Given the description of an element on the screen output the (x, y) to click on. 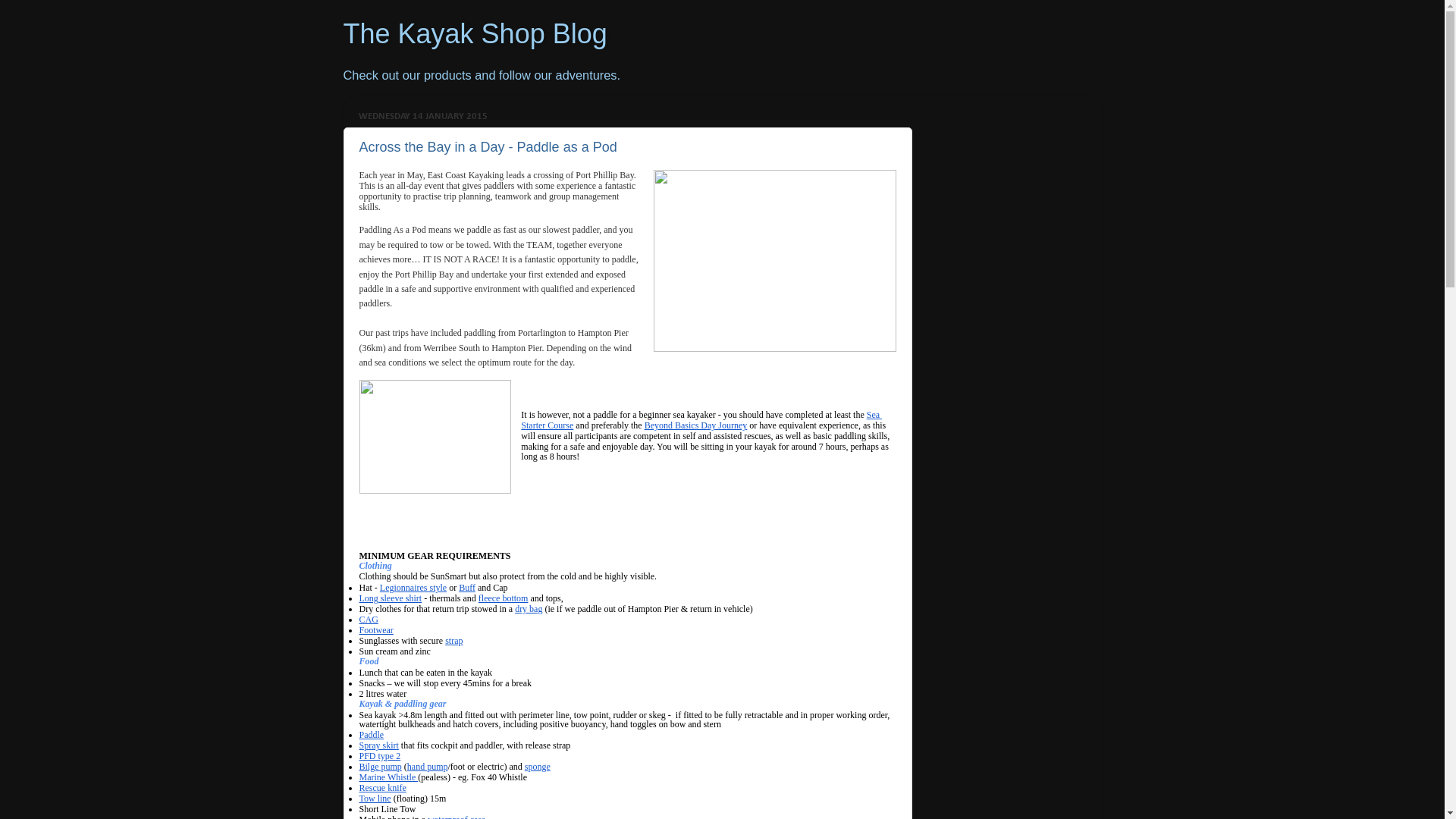
sponge Element type: text (537, 766)
The Kayak Shop Blog Element type: text (474, 33)
Legionnaires style Element type: text (412, 587)
hand pump Element type: text (427, 766)
Marine Whistle  Element type: text (388, 776)
Bilge pump Element type: text (380, 766)
dry bag Element type: text (528, 608)
Spray skirt Element type: text (378, 745)
PFD type 2 Element type: text (380, 755)
Buff Element type: text (466, 587)
Footwear Element type: text (376, 629)
fleece bottom Element type: text (503, 598)
Across the Bay in a Day - Paddle as a Pod Element type: text (488, 146)
Long sleeve shirt Element type: text (390, 598)
Sea Starter Course Element type: text (700, 418)
Beyond Basics Day Journey Element type: text (695, 424)
Rescue knife Element type: text (382, 787)
CAG Element type: text (368, 619)
Tow line Element type: text (375, 798)
strap Element type: text (453, 640)
Paddle Element type: text (371, 734)
